Given the description of an element on the screen output the (x, y) to click on. 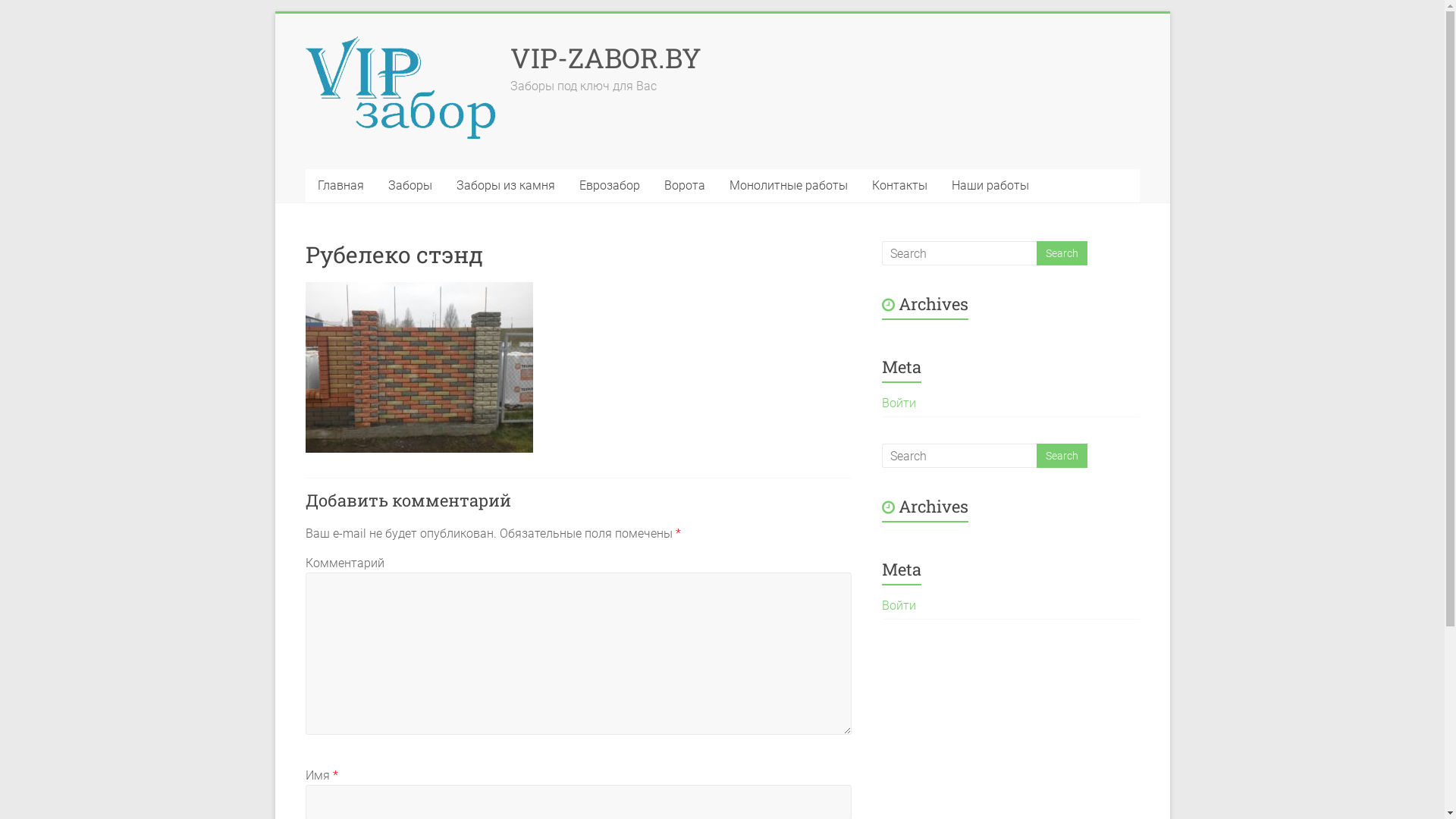
Search Element type: text (1060, 455)
VIP-ZABOR.BY Element type: text (604, 57)
Search Element type: text (1060, 253)
